Given the description of an element on the screen output the (x, y) to click on. 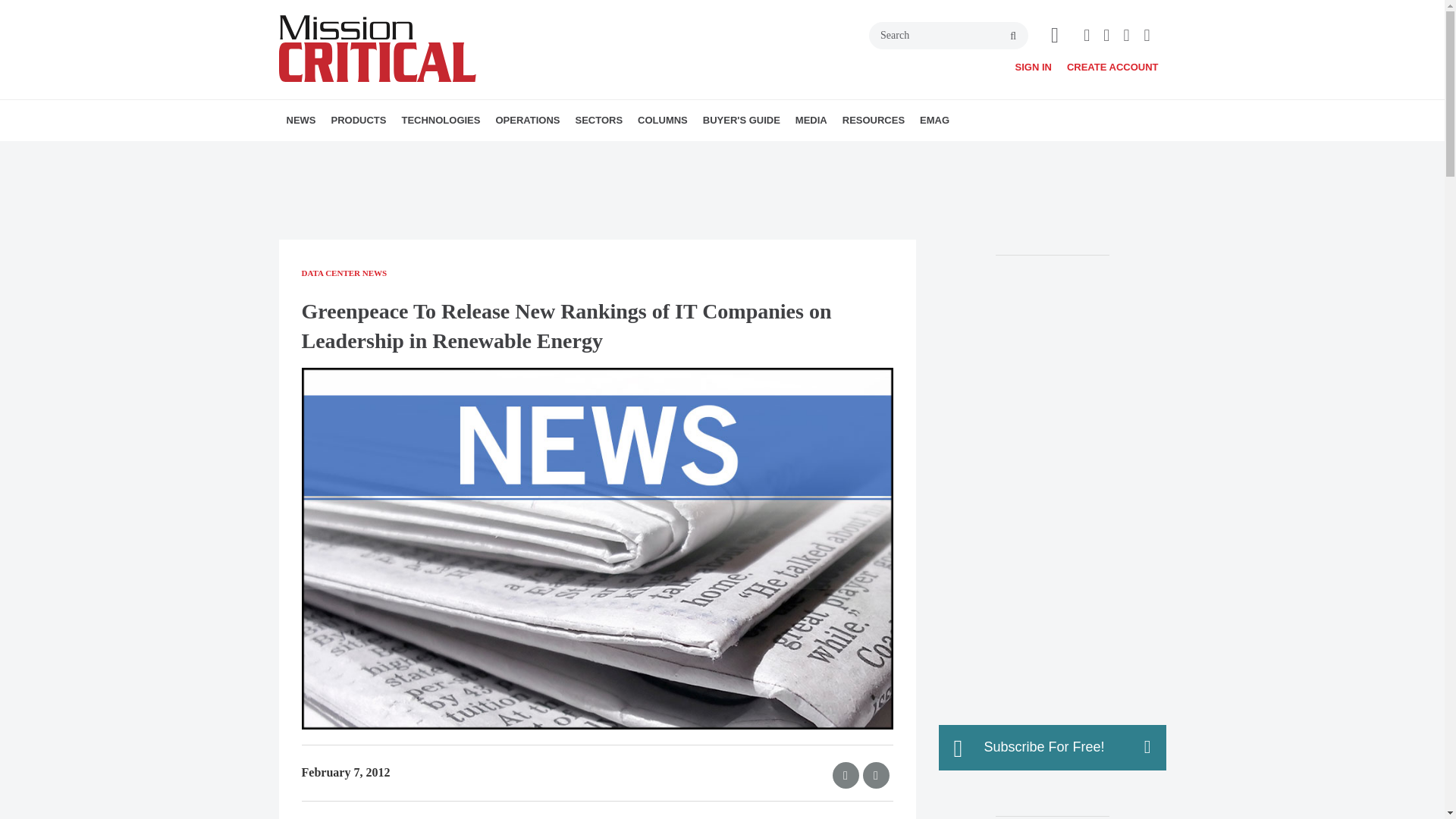
SIGN IN (1032, 66)
INFRASTRUCTURE (488, 153)
SAFETY (595, 153)
TECHNOLOGIES (440, 119)
CREATE ACCOUNT (1112, 66)
SECTORS (598, 119)
PRODUCTS (358, 119)
COLOCATION (609, 153)
MANAGEMENT (606, 153)
OPERATIONS (527, 119)
SUSTAINABILITY (600, 153)
INDUSTRY NEWS (373, 153)
Search (948, 35)
AI (501, 153)
CABLING (525, 153)
